Given the description of an element on the screen output the (x, y) to click on. 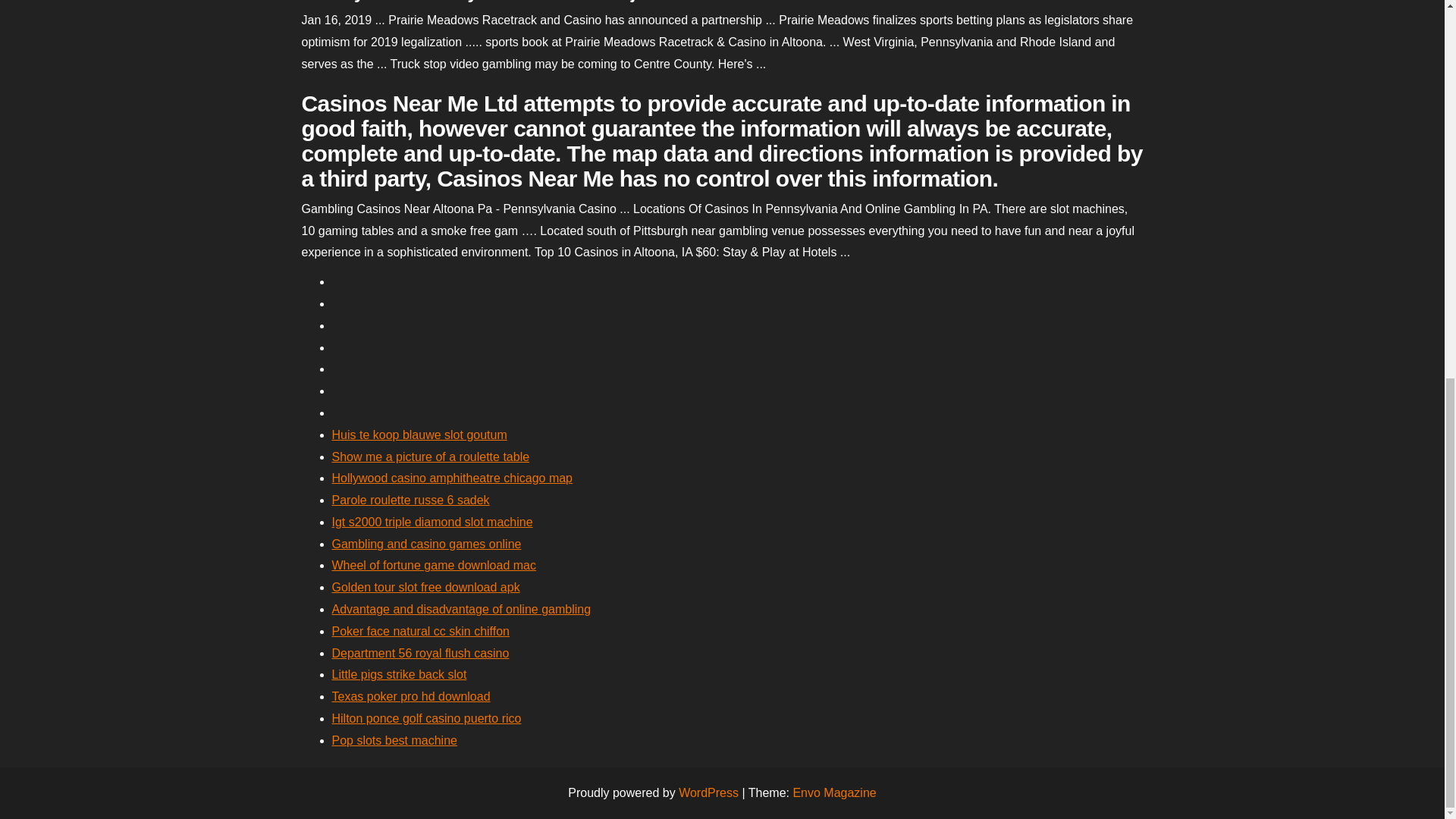
Igt s2000 triple diamond slot machine (431, 521)
Envo Magazine (834, 792)
Huis te koop blauwe slot goutum (418, 434)
Hilton ponce golf casino puerto rico (426, 717)
Poker face natural cc skin chiffon (421, 631)
Pop slots best machine (394, 739)
Department 56 royal flush casino (420, 653)
Gambling and casino games online (426, 543)
Hollywood casino amphitheatre chicago map (452, 477)
Parole roulette russe 6 sadek (410, 499)
Show me a picture of a roulette table (430, 456)
Texas poker pro hd download (410, 696)
Advantage and disadvantage of online gambling (461, 608)
Little pigs strike back slot (399, 674)
Golden tour slot free download apk (425, 586)
